Given the description of an element on the screen output the (x, y) to click on. 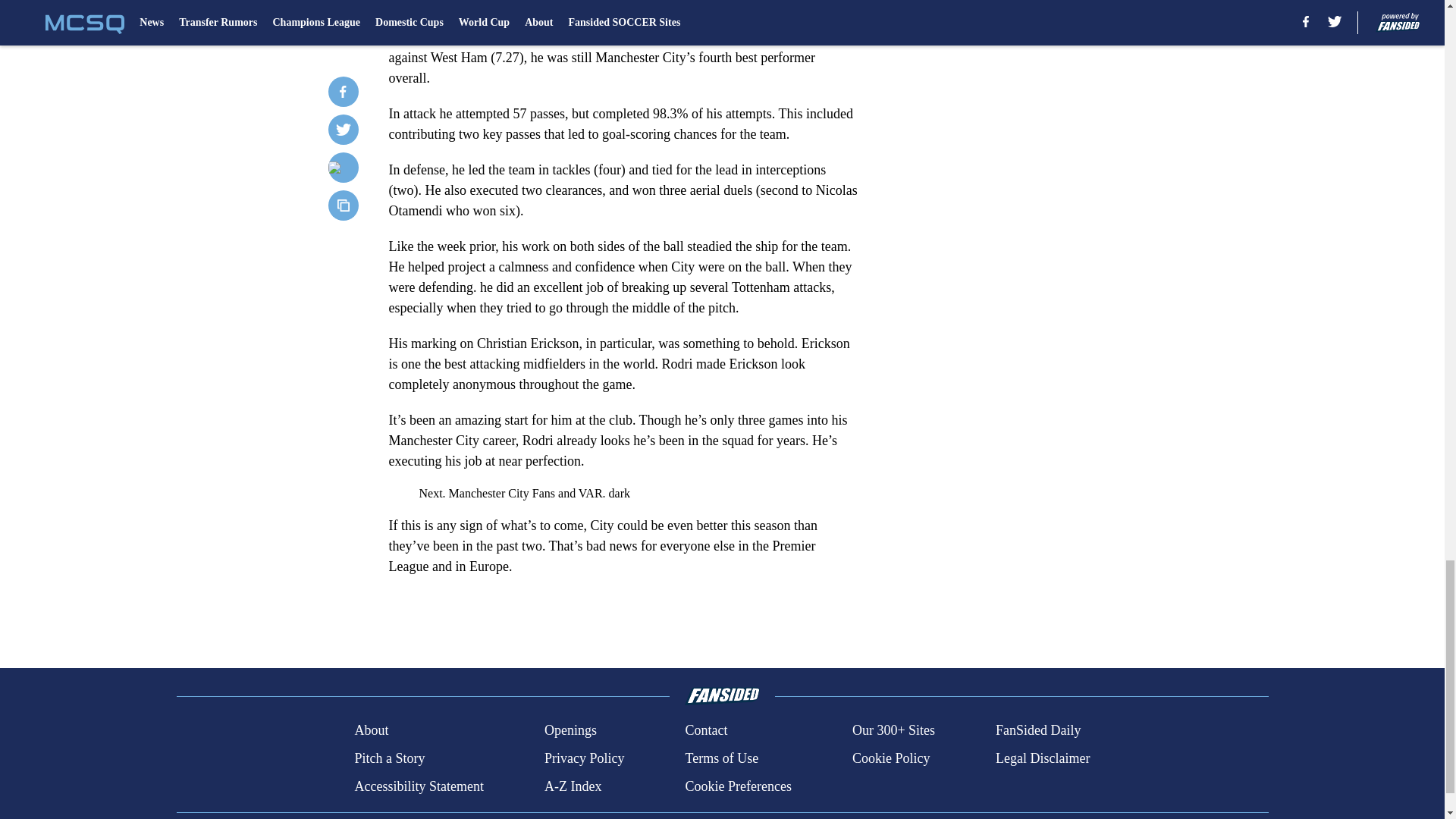
About (370, 730)
Privacy Policy (584, 758)
Against Spurs this past weekend, (478, 16)
Pitch a Story (389, 758)
Contact (705, 730)
A-Z Index (572, 786)
Terms of Use (721, 758)
Legal Disclaimer (1042, 758)
Openings (570, 730)
Cookie Preferences (737, 786)
